Given the description of an element on the screen output the (x, y) to click on. 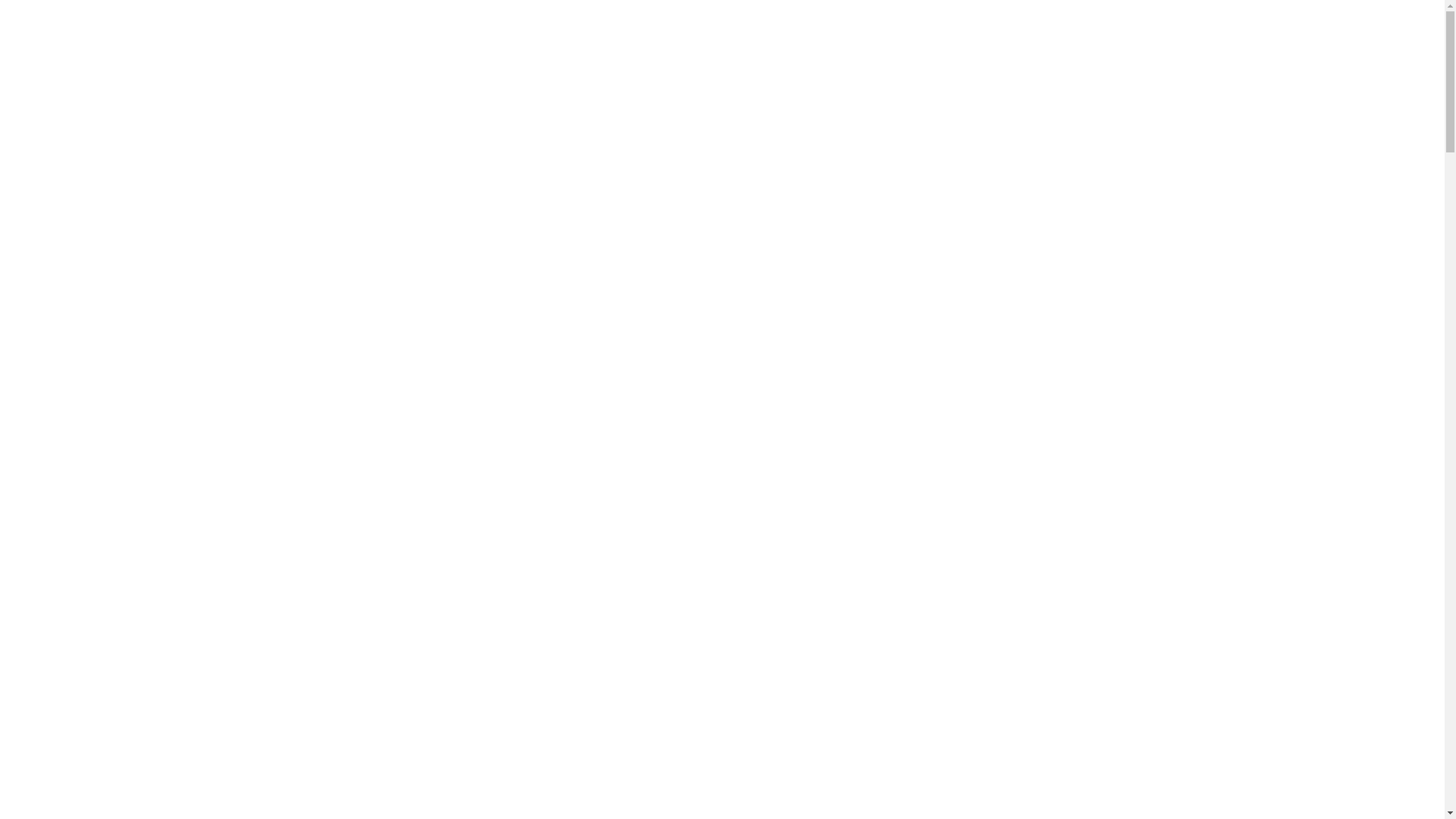
WHO WE ARE Element type: text (992, 108)
WHAT WE DO Element type: text (893, 108)
DONATE Element type: text (1355, 108)
BECOME A FOSTER CARER Element type: text (1231, 108)
HOW TO HELP Element type: text (1092, 108)
